Given the description of an element on the screen output the (x, y) to click on. 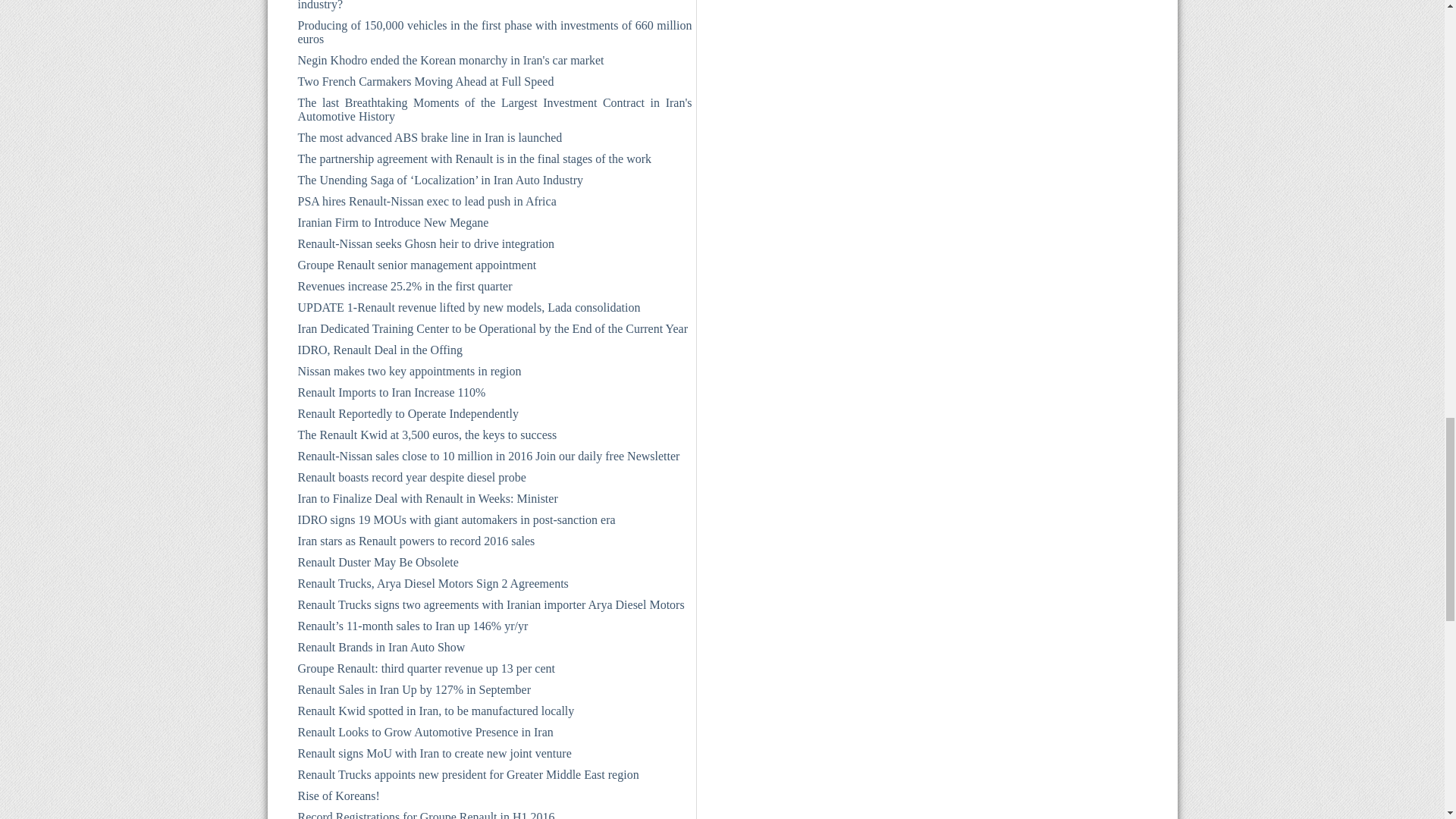
The most advanced ABS brake line in Iran is launched (494, 140)
PSA hires Renault-Nissan exec to lead push in Africa (494, 204)
Two French Carmakers Moving Ahead at Full Speed (494, 85)
Negin Khodro ended the Korean monarchy in Iran's car market (494, 63)
